Given the description of an element on the screen output the (x, y) to click on. 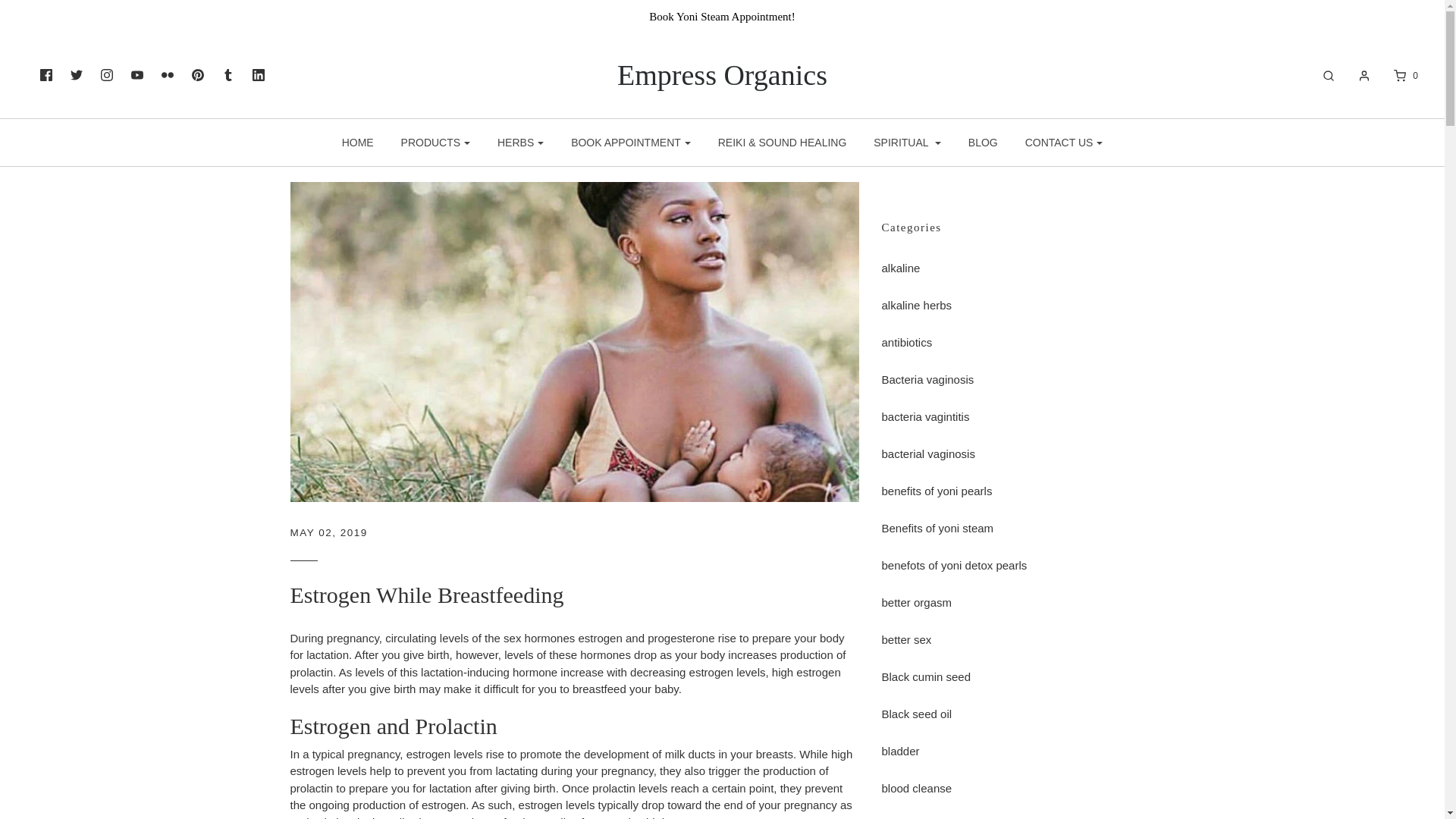
Book Yoni Steam Appointment! (722, 16)
Show articles tagged better orgasm (916, 602)
Show articles tagged Benefits of yoni steam (936, 527)
Cart (1396, 75)
Log in (1356, 75)
Show articles tagged bacterial vaginosis (927, 453)
Show articles tagged antibiotics (905, 341)
Show articles tagged benefits of yoni pearls (935, 490)
Show articles tagged bacteria vagintitis (924, 416)
Show articles tagged Bacteria vaginosis (927, 379)
Flickr icon (167, 74)
Search (1321, 75)
Tumblr icon (228, 74)
Search (1426, 9)
Show articles tagged alkaline (900, 267)
